Given the description of an element on the screen output the (x, y) to click on. 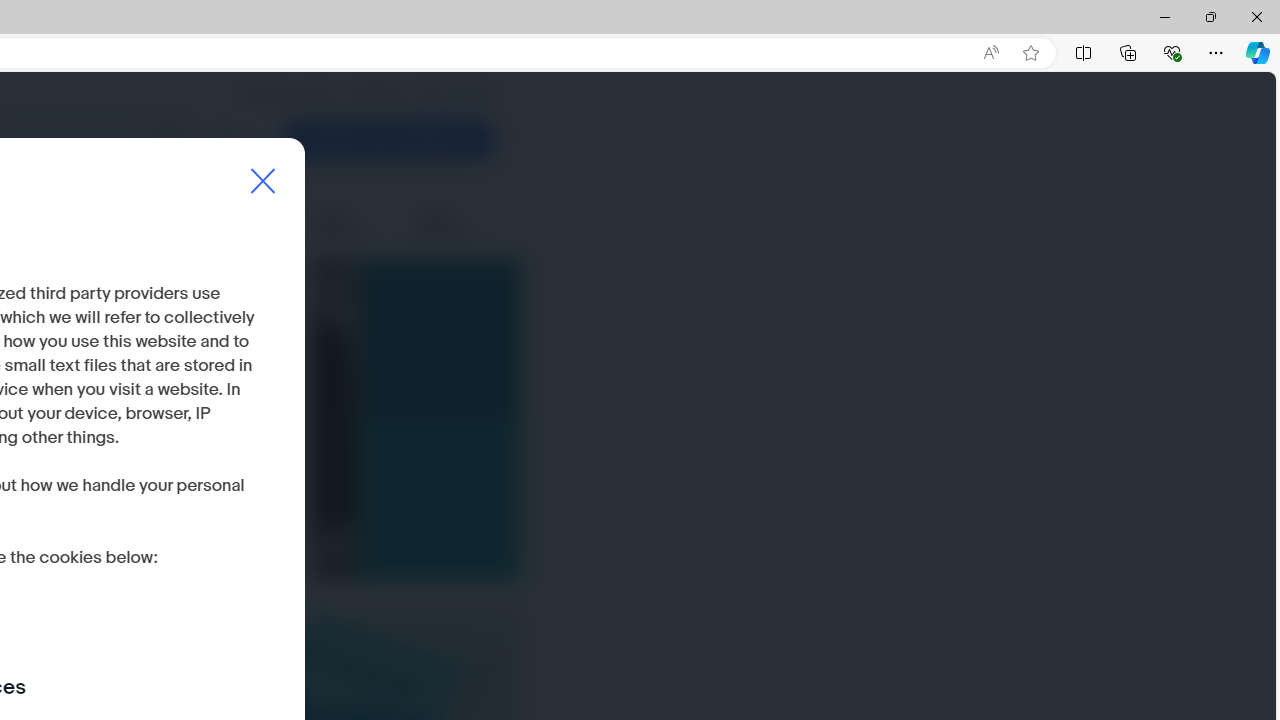
Read aloud this page (Ctrl+Shift+U) (991, 53)
Class: search-input__icon (168, 139)
Decline all (68, 559)
Class: btn__arrow (469, 139)
IN (429, 95)
